Given the description of an element on the screen output the (x, y) to click on. 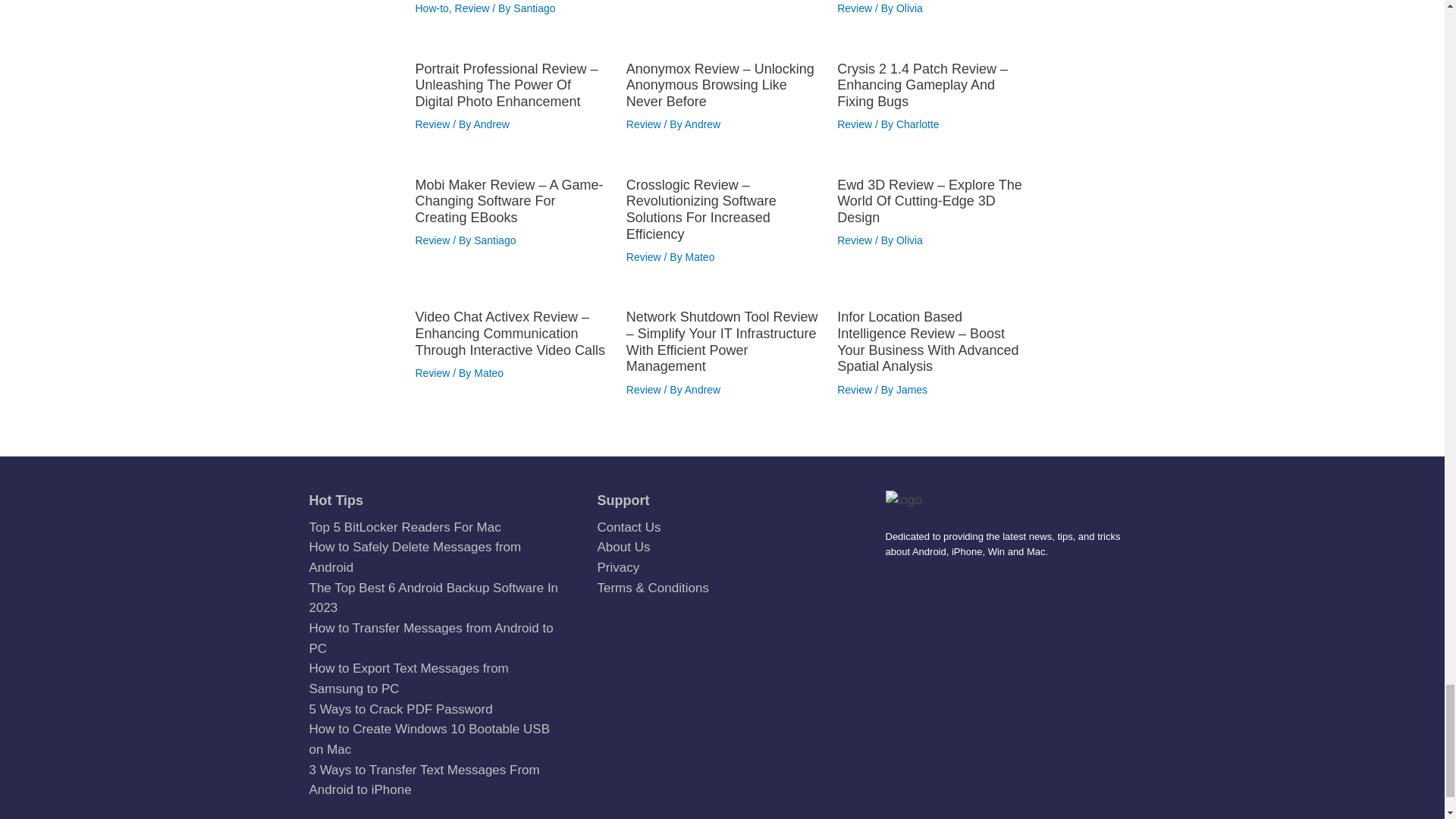
View all posts by Olivia (909, 8)
View all posts by Santiago (533, 8)
View all posts by Andrew (702, 123)
View all posts by Andrew (490, 123)
